Given the description of an element on the screen output the (x, y) to click on. 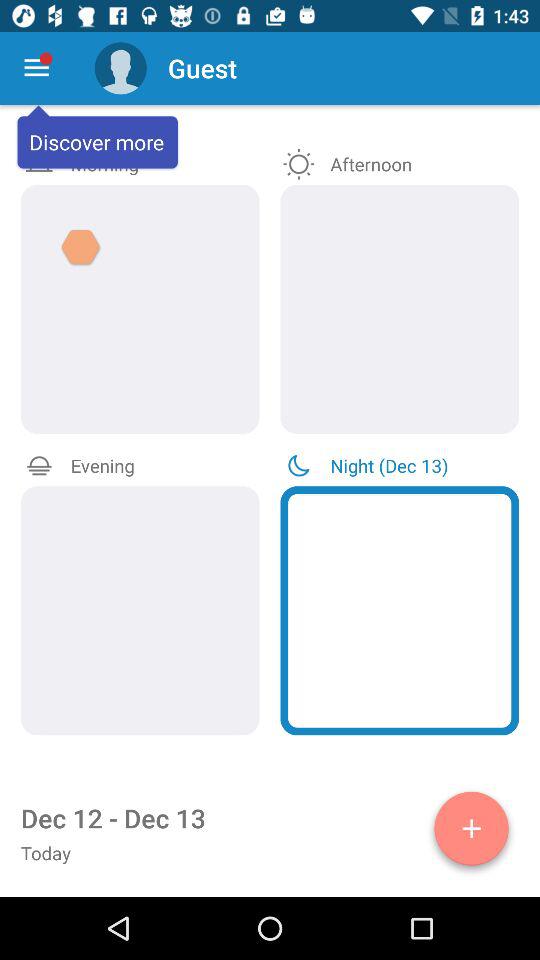
selection for evening scheduling (140, 610)
